Given the description of an element on the screen output the (x, y) to click on. 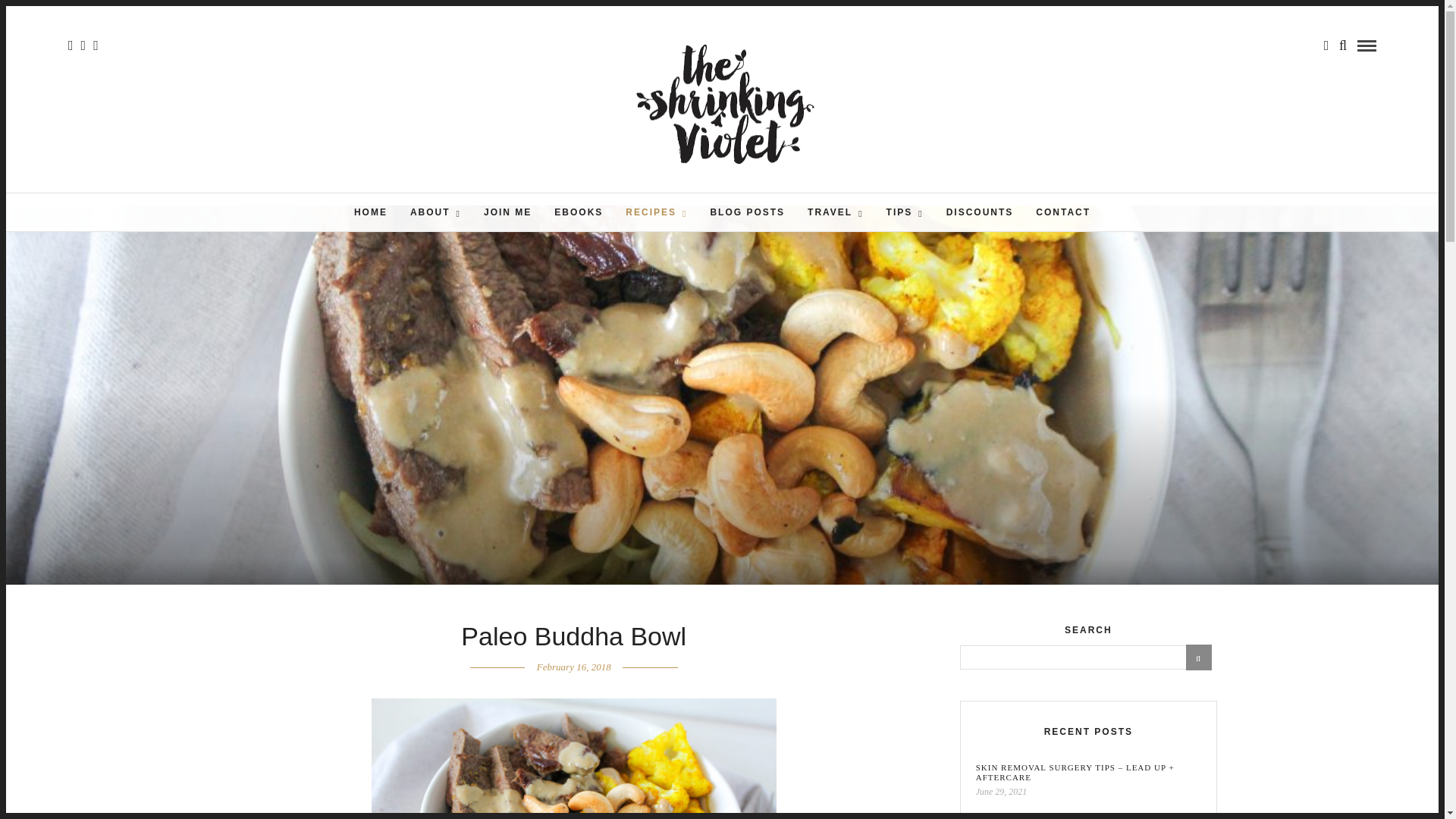
JOIN ME (507, 211)
ABOUT (434, 211)
EBOOKS (578, 211)
HOME (370, 211)
